Given the description of an element on the screen output the (x, y) to click on. 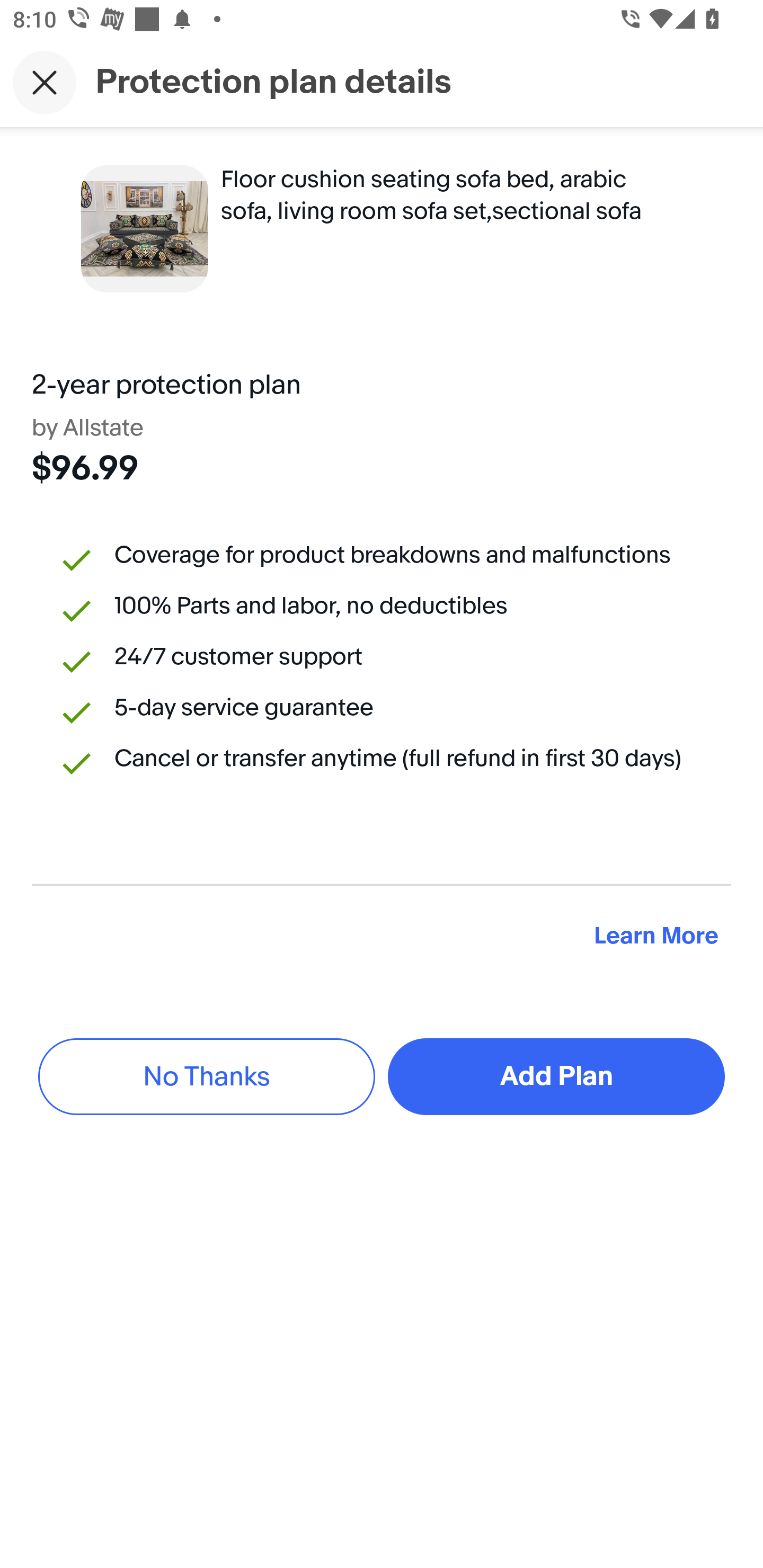
Close (44, 82)
Learn More Learn more about Protection Plan (655, 936)
Add Plan (555, 1076)
